Given the description of an element on the screen output the (x, y) to click on. 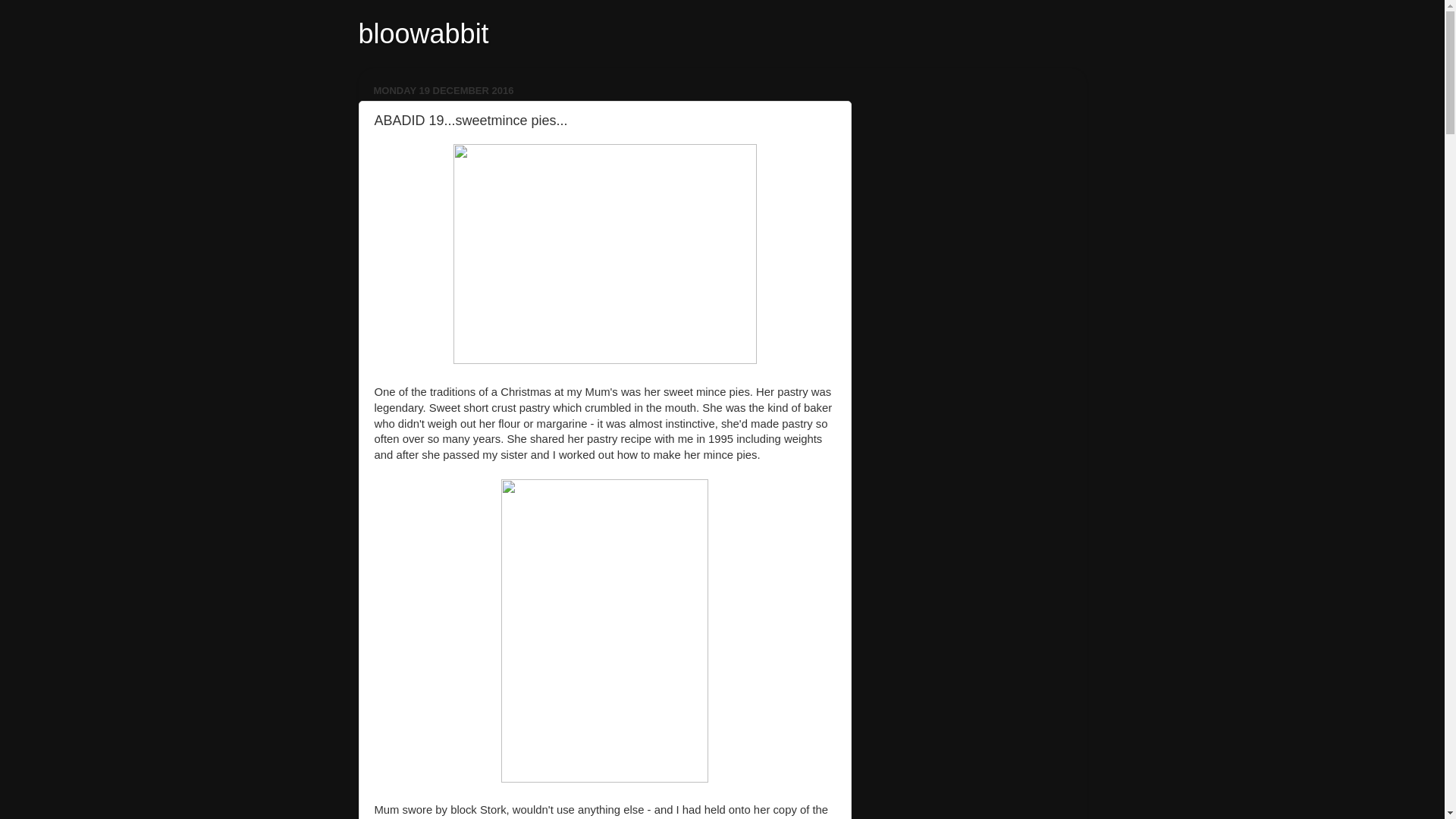
bloowabbit (422, 33)
